Given the description of an element on the screen output the (x, y) to click on. 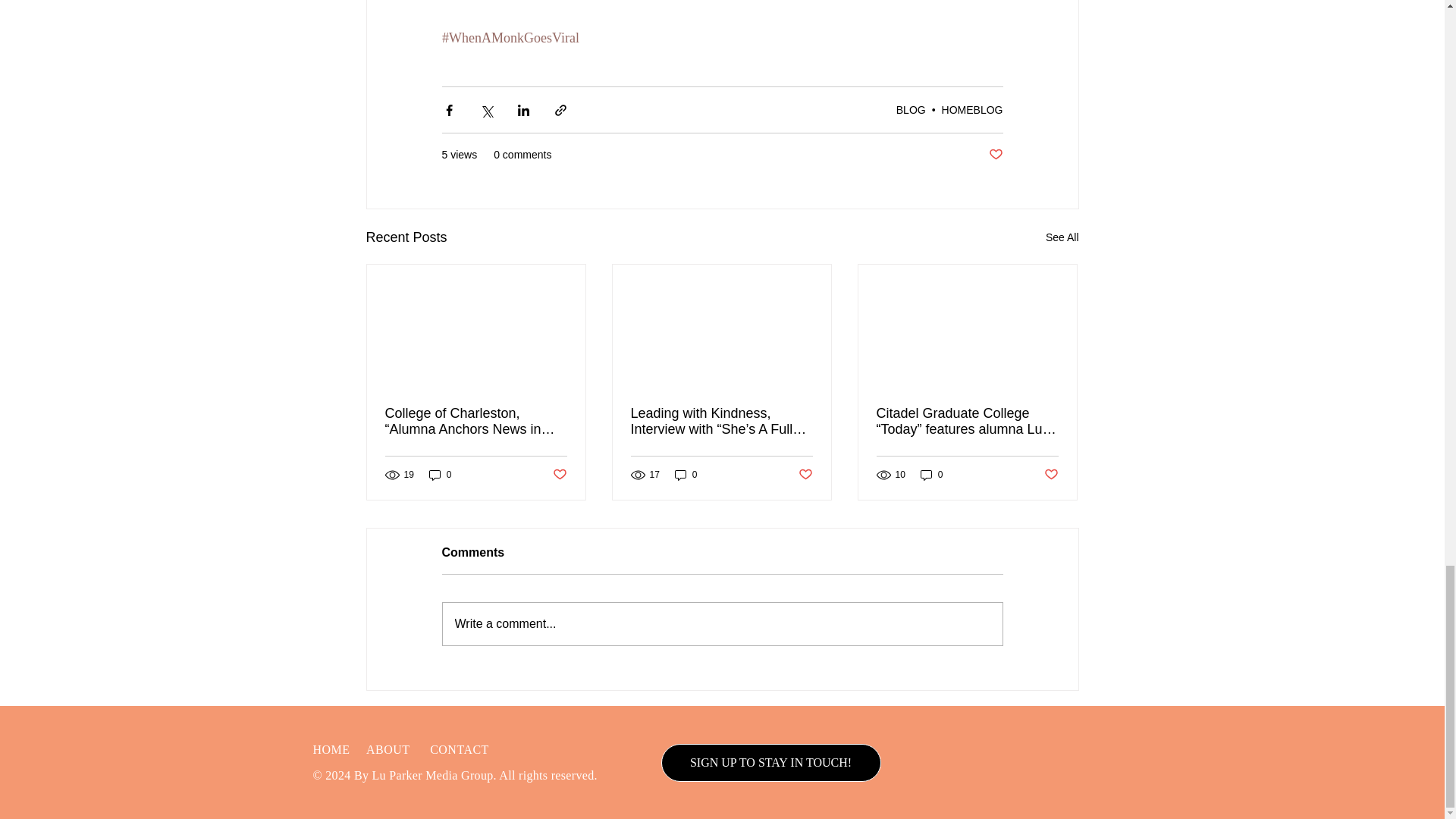
Post not marked as liked (995, 154)
See All (1061, 237)
Post not marked as liked (558, 474)
BLOG (911, 110)
0 (440, 474)
HOMEBLOG (972, 110)
